Given the description of an element on the screen output the (x, y) to click on. 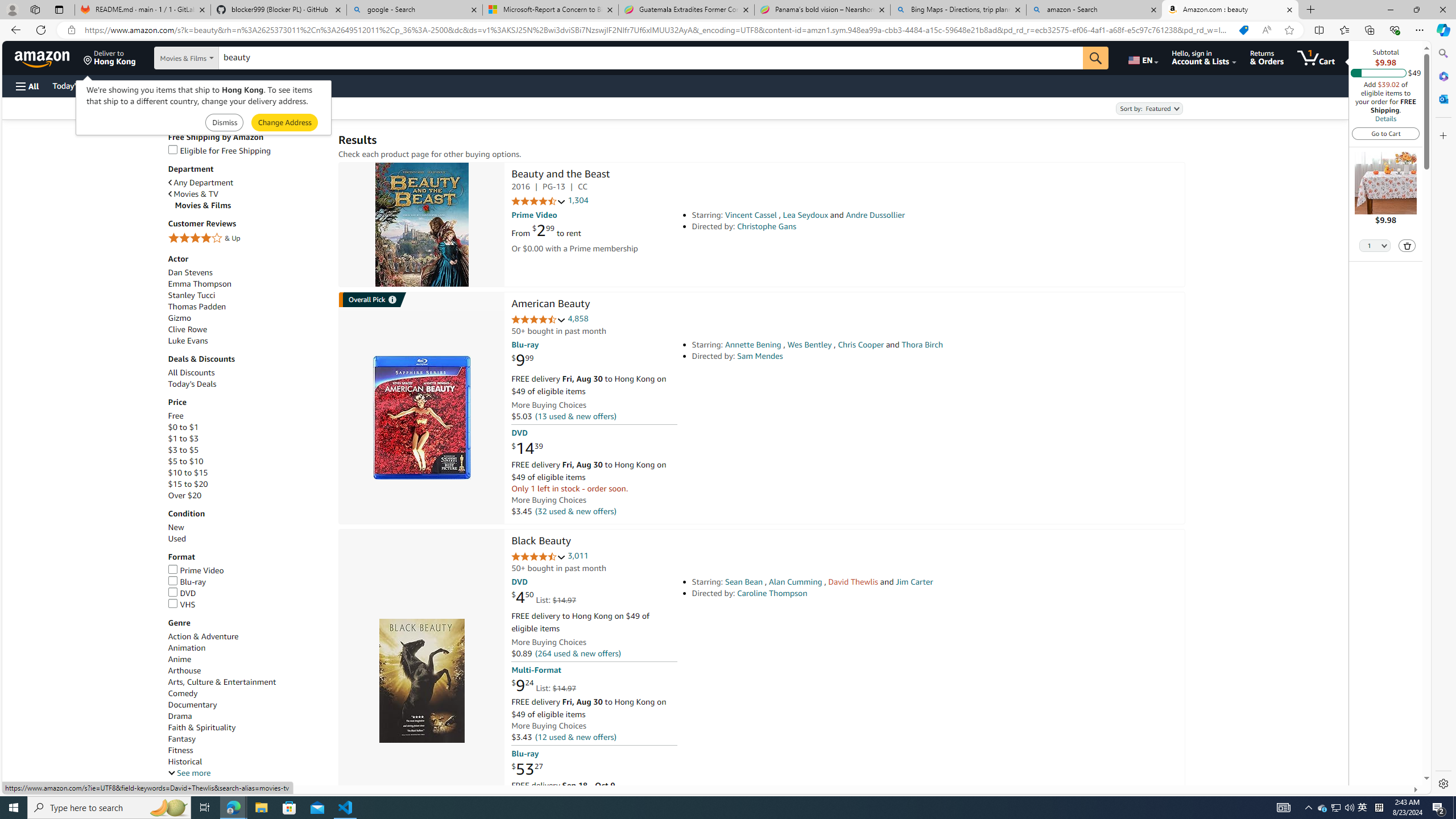
Directed by: Christophe Gans (850, 226)
Animation (247, 647)
$3 to $5 (183, 449)
Annette Bening (753, 344)
Dan Stevens (247, 272)
Deliver to Hong Kong (109, 57)
Eligible for Free Shipping (247, 150)
Blu-ray (247, 582)
Anime (247, 659)
Emma Thompson (247, 284)
